Given the description of an element on the screen output the (x, y) to click on. 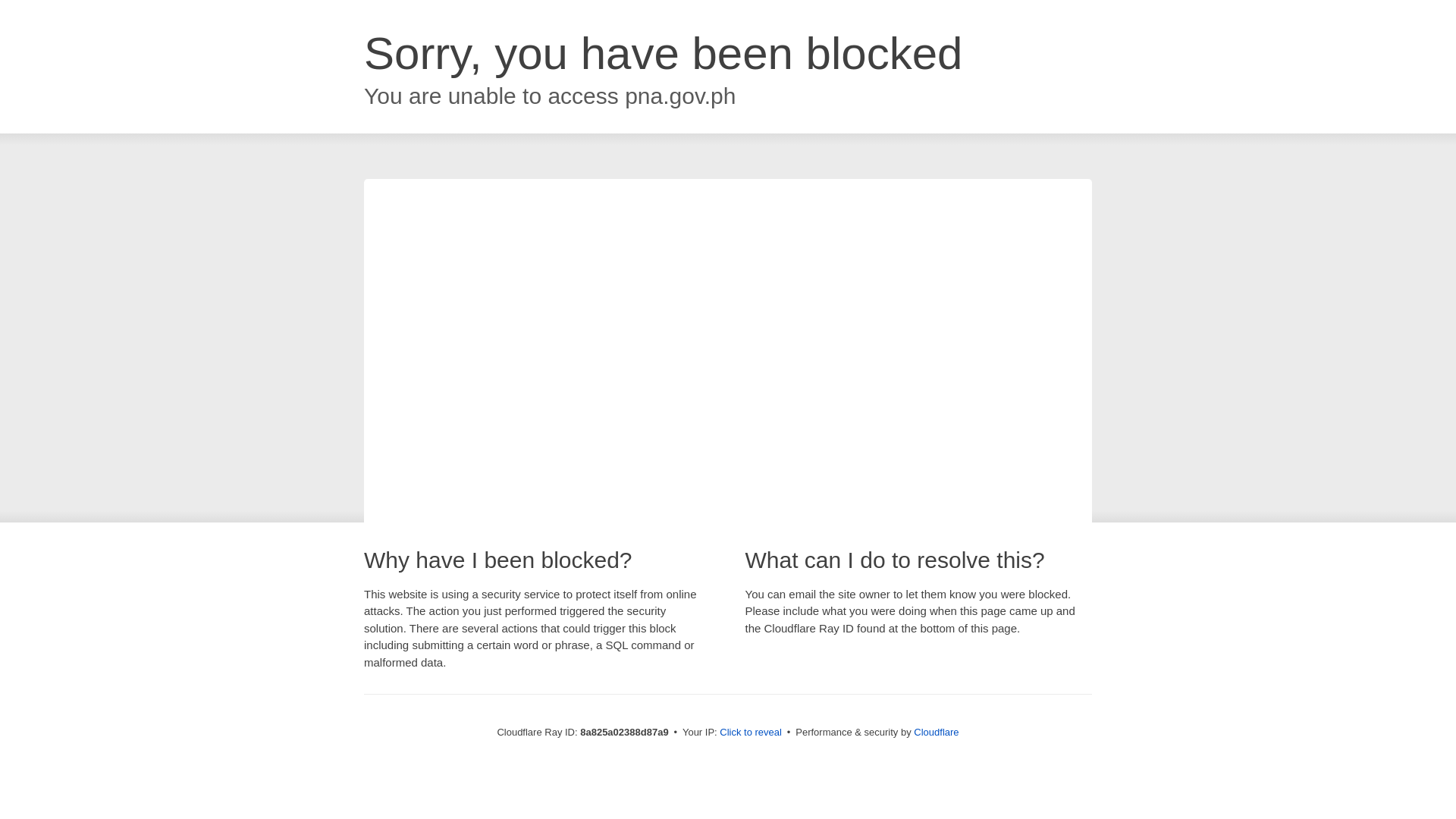
Cloudflare (936, 731)
Click to reveal (750, 732)
